Given the description of an element on the screen output the (x, y) to click on. 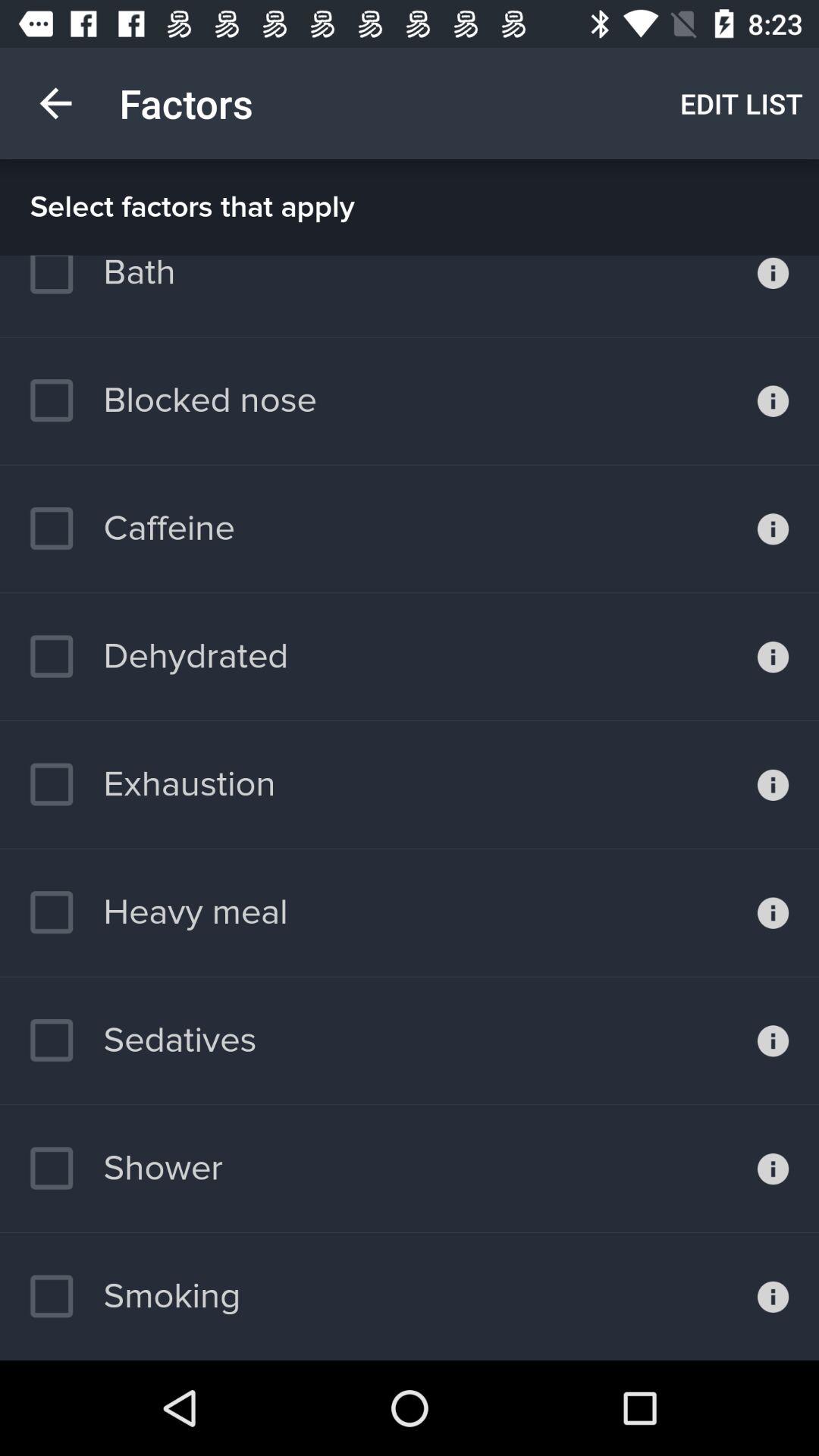
jump to the heavy meal (158, 912)
